Given the description of an element on the screen output the (x, y) to click on. 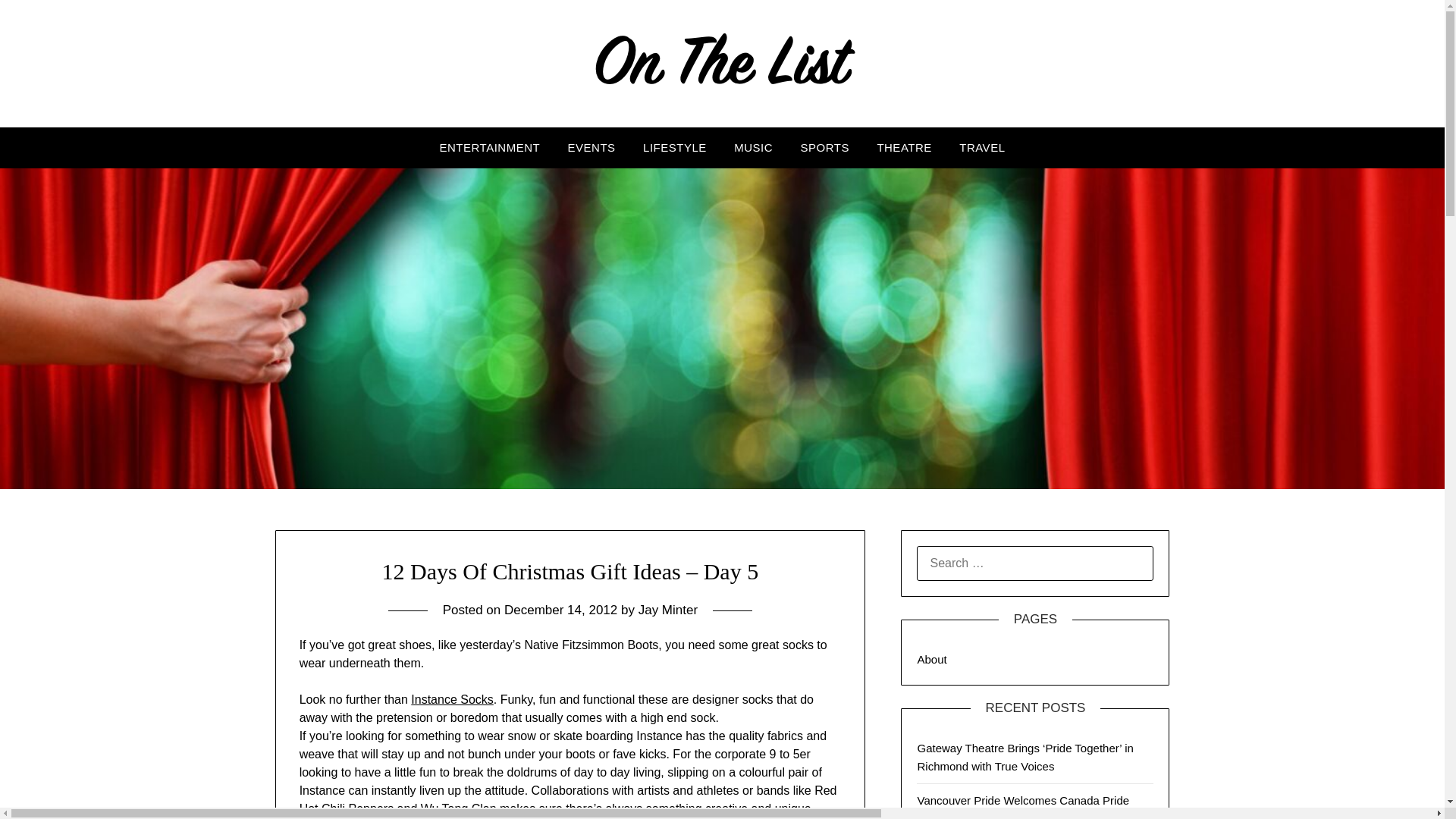
About (931, 658)
Vancouver Pride Welcomes Canada Pride (1023, 799)
THEATRE (903, 147)
Jay Minter (668, 609)
SPORTS (825, 147)
December 14, 2012 (560, 609)
Search (38, 22)
Instance Socks (451, 698)
LIFESTYLE (674, 147)
TRAVEL (981, 147)
EVENTS (591, 147)
ENTERTAINMENT (490, 147)
MUSIC (753, 147)
